Given the description of an element on the screen output the (x, y) to click on. 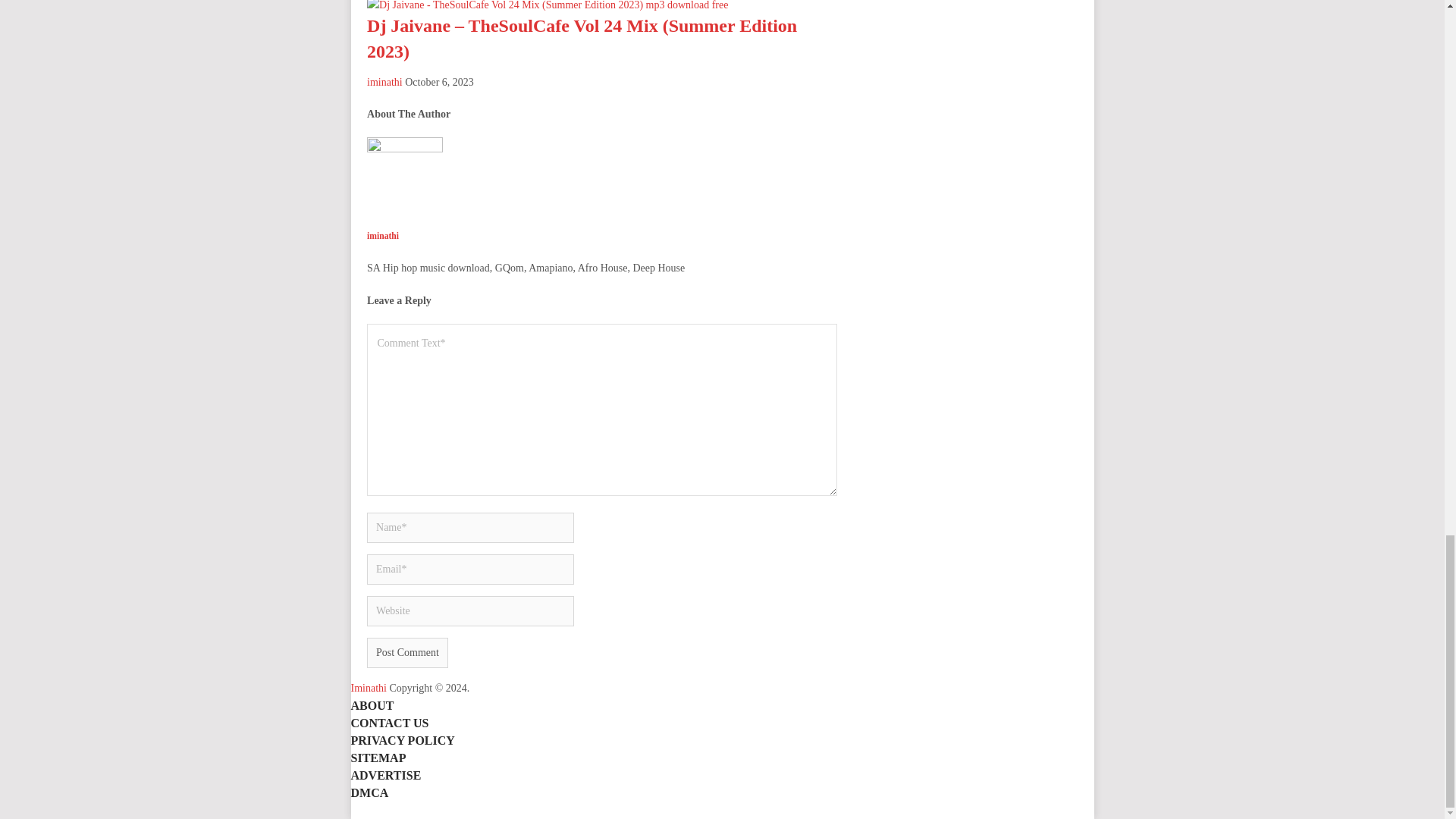
Post Comment (407, 653)
